Given the description of an element on the screen output the (x, y) to click on. 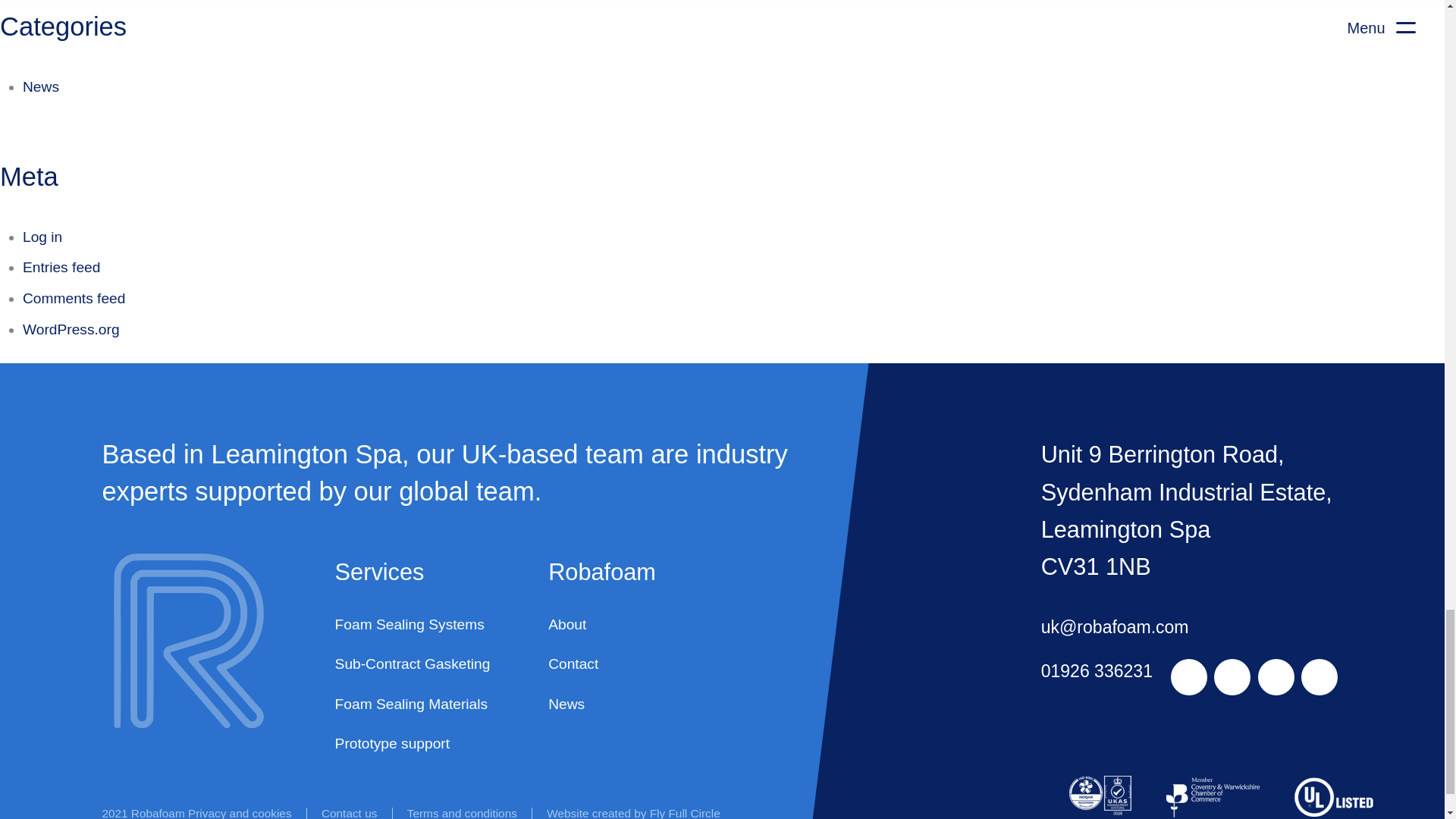
News (41, 86)
Log in (42, 236)
